Given the description of an element on the screen output the (x, y) to click on. 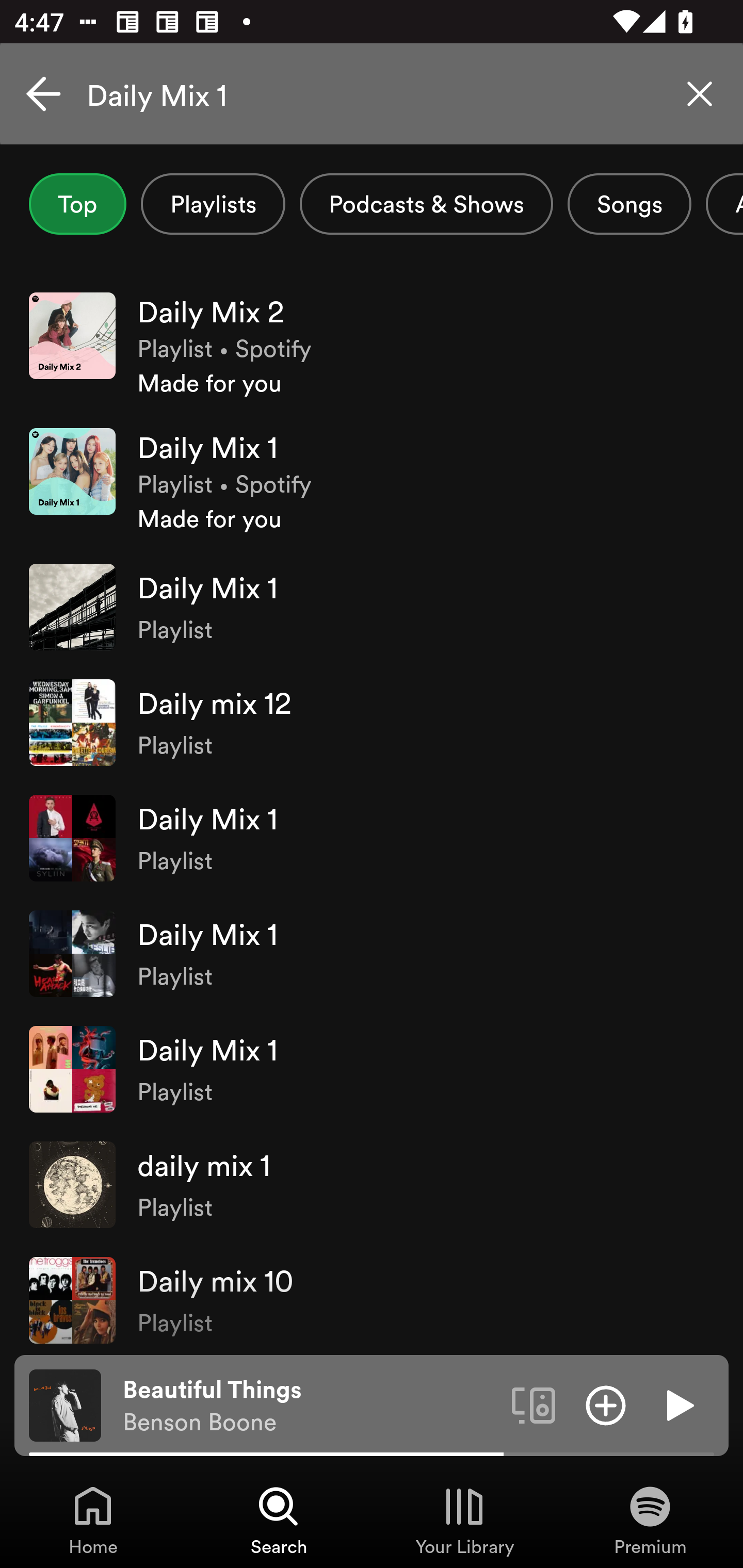
Daily Mix 1 (371, 93)
Cancel (43, 93)
Clear search query (699, 93)
Top (77, 203)
Playlists (213, 203)
Podcasts & Shows (425, 203)
Songs (629, 203)
Daily Mix 2 Playlist • Spotify Made for you (371, 345)
Daily Mix 1 Playlist • Spotify Made for you (371, 480)
Daily Mix 1 Playlist (371, 606)
Daily mix 12 Playlist (371, 722)
Daily Mix 1 Playlist (371, 837)
Daily Mix 1 Playlist (371, 953)
Daily Mix 1 Playlist (371, 1069)
daily mix 1 Playlist (371, 1184)
Daily mix 10 Playlist (371, 1297)
Beautiful Things Benson Boone (309, 1405)
The cover art of the currently playing track (64, 1404)
Connect to a device. Opens the devices menu (533, 1404)
Add item (605, 1404)
Play (677, 1404)
Home, Tab 1 of 4 Home Home (92, 1519)
Search, Tab 2 of 4 Search Search (278, 1519)
Your Library, Tab 3 of 4 Your Library Your Library (464, 1519)
Premium, Tab 4 of 4 Premium Premium (650, 1519)
